Given the description of an element on the screen output the (x, y) to click on. 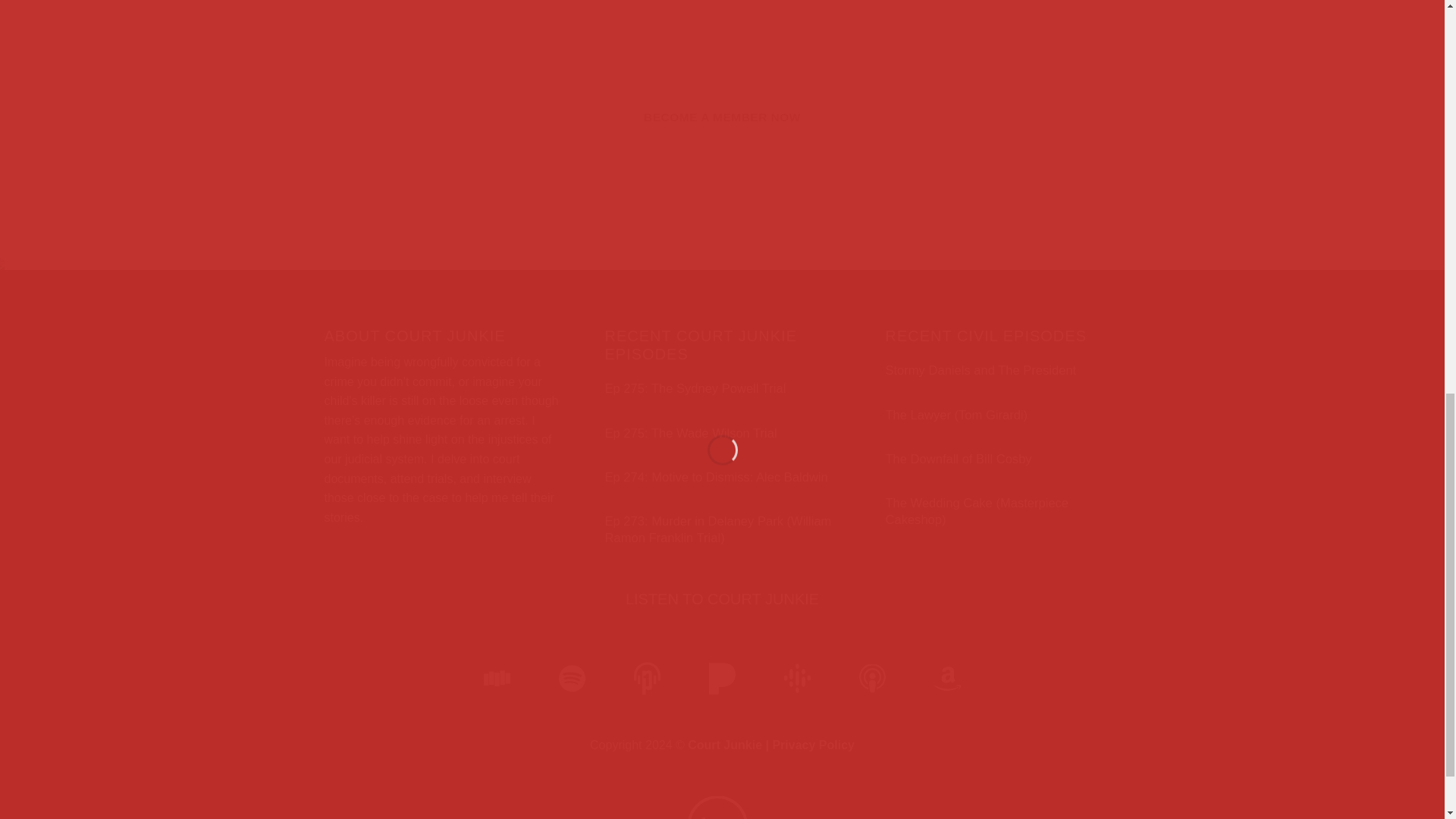
Ep 275: The Wade Wilson Trial (691, 433)
Ep 275: The Sydney Powell Trial (695, 388)
BECOME A MEMBER NOW (721, 116)
Ep 274: Motive to Dismiss: Alec Baldwin (716, 477)
Stormy Daniels and The President (980, 370)
Stitcher (497, 680)
